Given the description of an element on the screen output the (x, y) to click on. 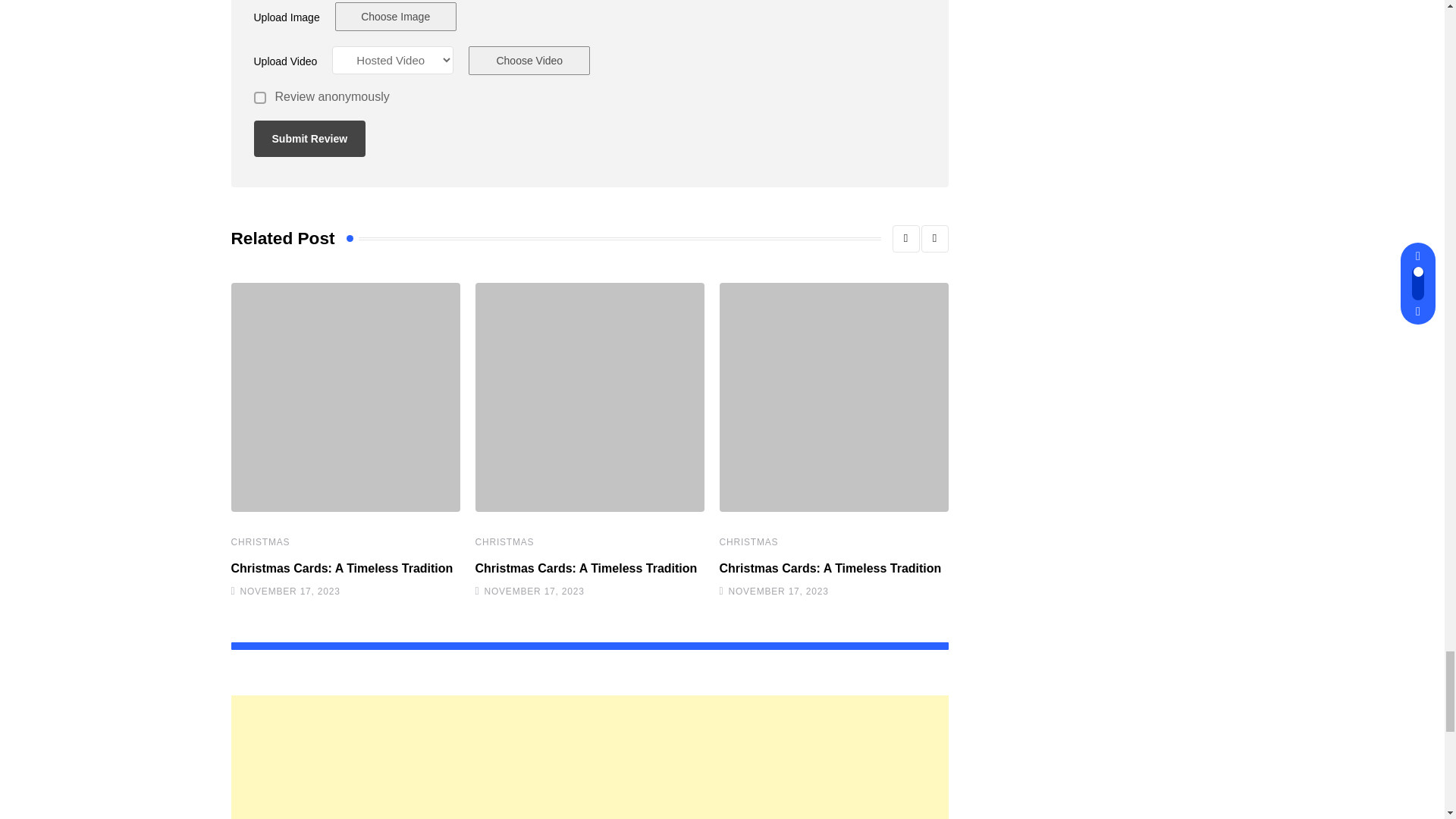
Submit Review (309, 138)
